Given the description of an element on the screen output the (x, y) to click on. 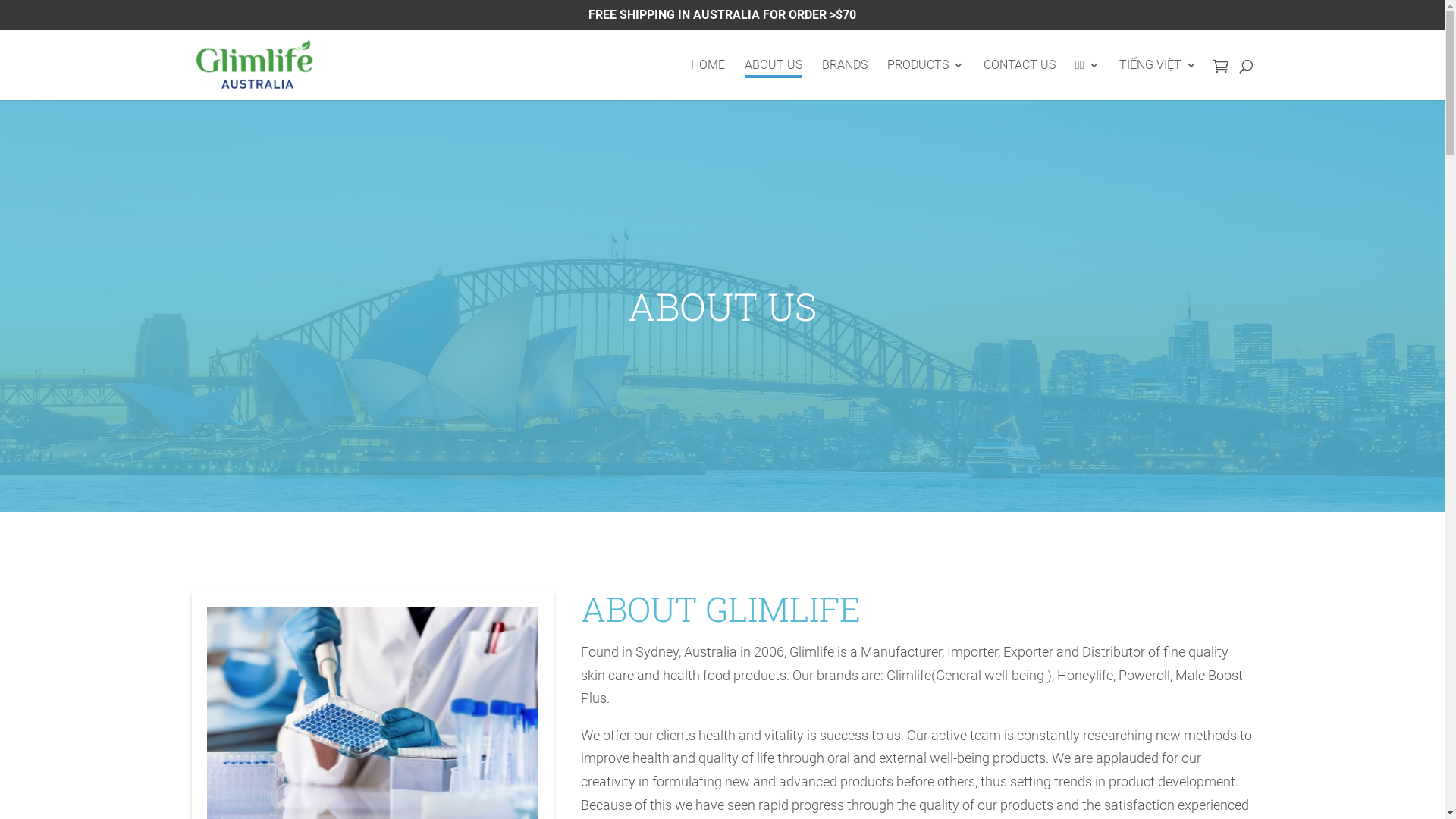
CONTACT US Element type: text (1019, 79)
HOME Element type: text (707, 79)
PRODUCTS Element type: text (925, 79)
Glimlife Element type: hover (254, 65)
ABOUT US Element type: text (773, 79)
BRANDS Element type: text (844, 79)
